Given the description of an element on the screen output the (x, y) to click on. 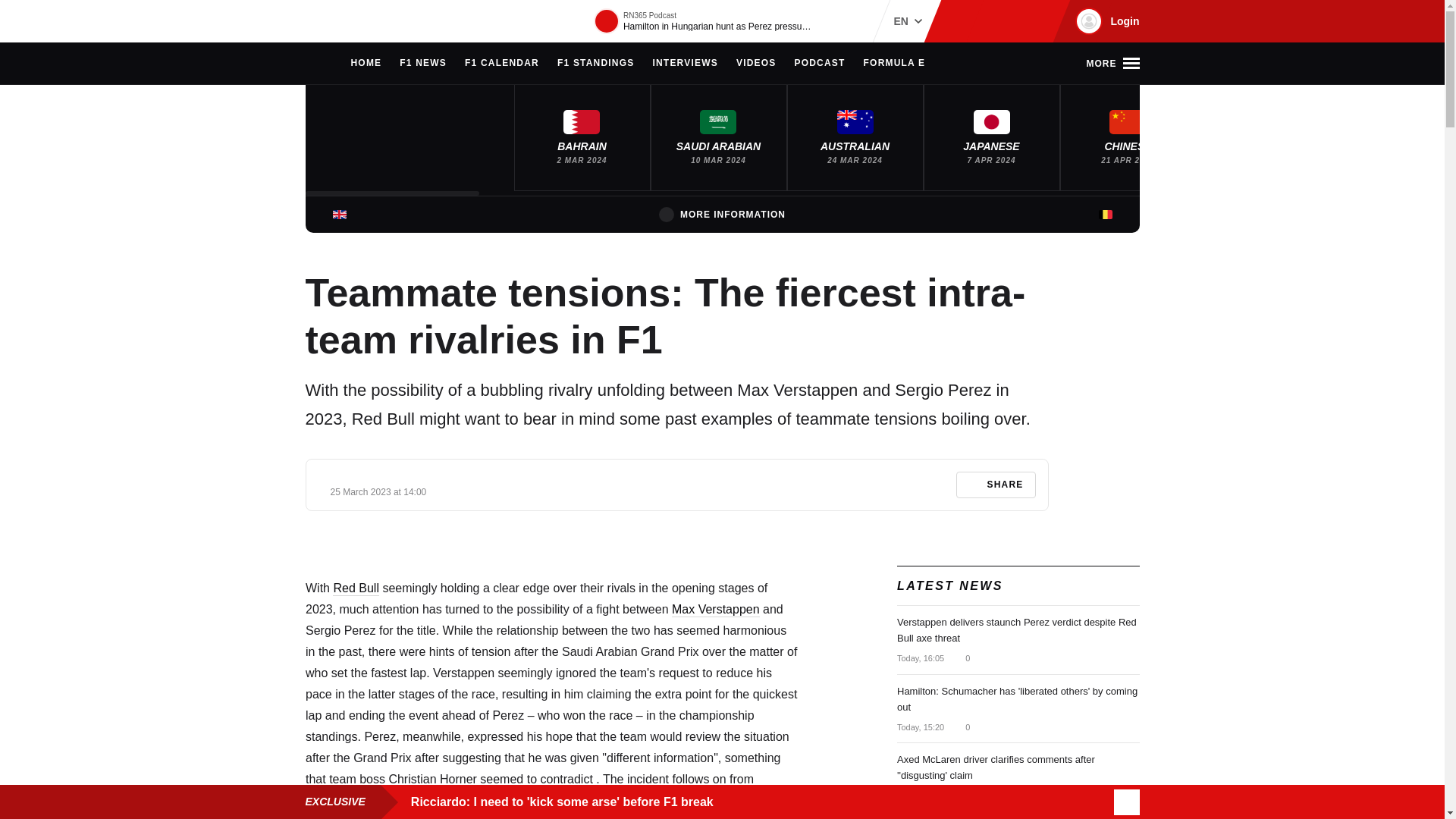
F1 CALENDAR (501, 63)
RacingNews365 on X (1010, 21)
RacingNews365 on Facebook (986, 21)
VIDEOS (756, 63)
FORMULA E (894, 63)
Login (1104, 21)
F1 STANDINGS (595, 63)
INTERVIEWS (684, 63)
MORE INFORMATION (722, 214)
RacingNews365 on YouTube (1034, 21)
Saturday 25 March 2023 at 14:00 (378, 491)
RacingNews365 (350, 21)
F1 NEWS (422, 63)
RacingNews365 on Instagram (962, 21)
PODCAST (818, 63)
